Given the description of an element on the screen output the (x, y) to click on. 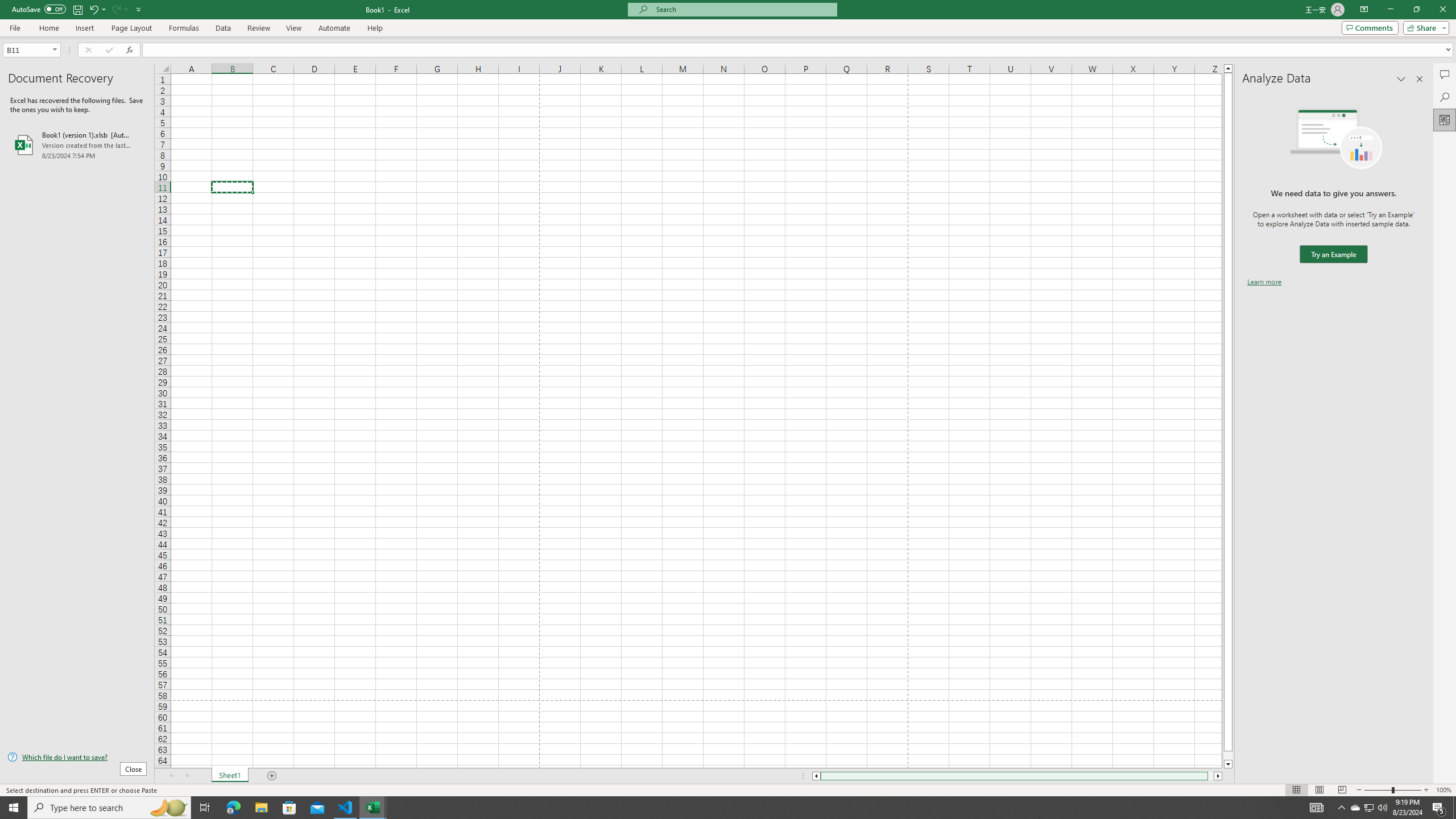
AutoSave (38, 9)
Class: MsoCommandBar (728, 18)
